Given the description of an element on the screen output the (x, y) to click on. 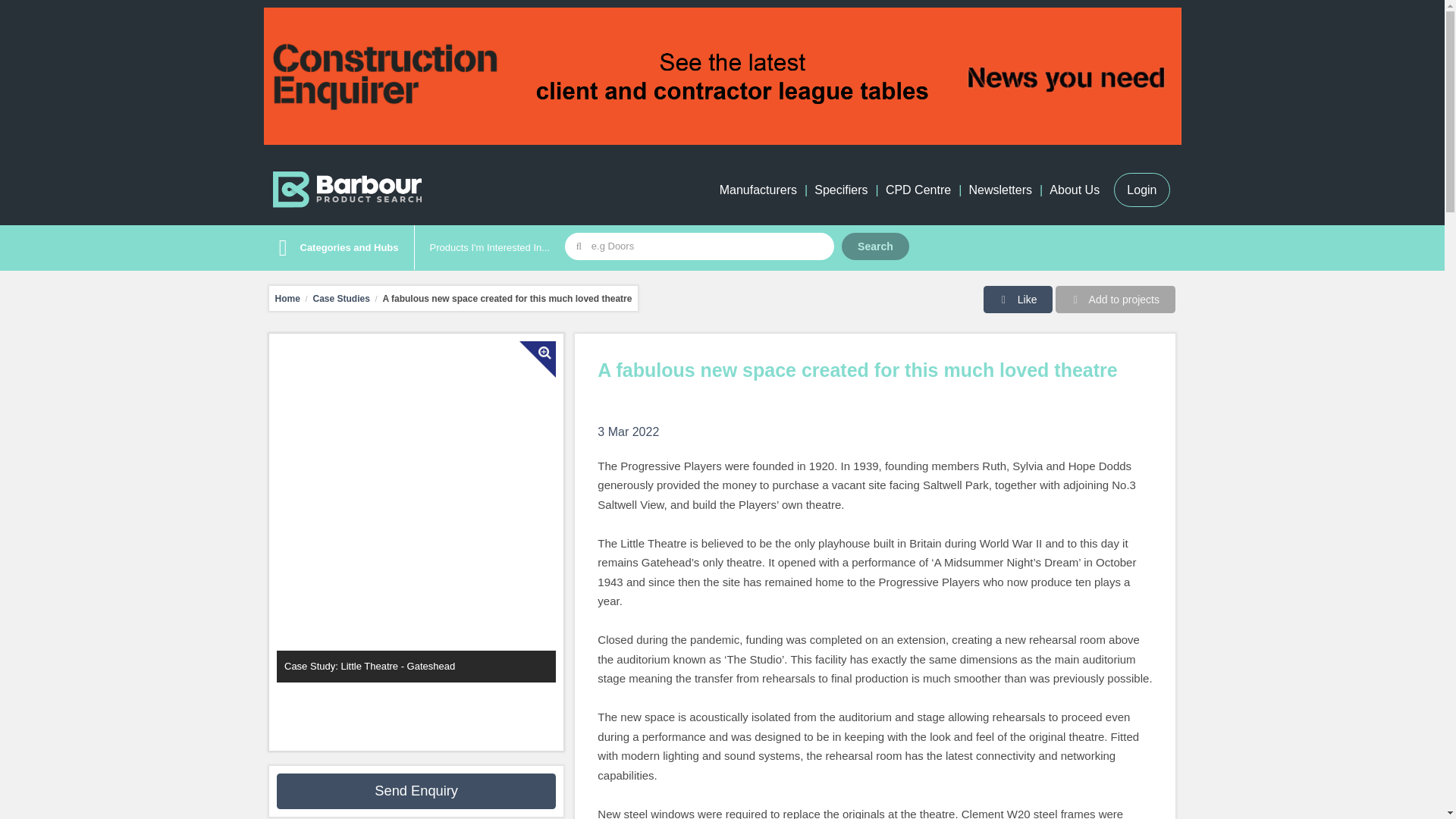
Login (1141, 189)
About Us (1074, 189)
Construction Enquirer (721, 75)
Categories and Hubs (333, 248)
Manufacturers (757, 189)
CPD Centre (917, 189)
Newsletters (1000, 189)
Specifiers (840, 189)
